Given the description of an element on the screen output the (x, y) to click on. 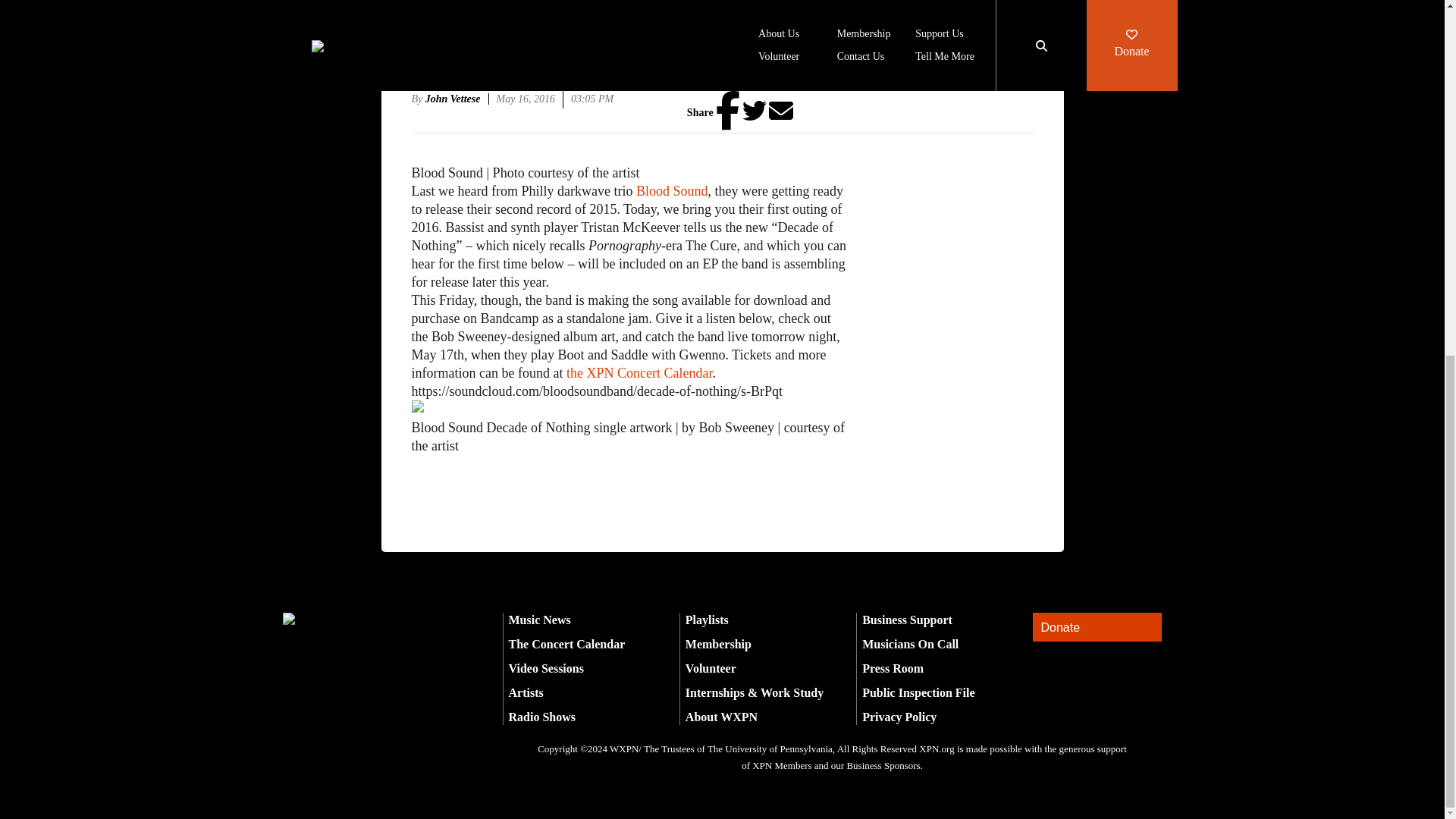
John Vettese (457, 98)
Music News (539, 619)
the XPN Concert Calendar (638, 372)
Press Room (892, 667)
Public Inspection File (917, 692)
Membership (718, 644)
About WXPN (721, 716)
Donate (1096, 626)
Video Sessions (545, 667)
Blood Sound (671, 191)
